Given the description of an element on the screen output the (x, y) to click on. 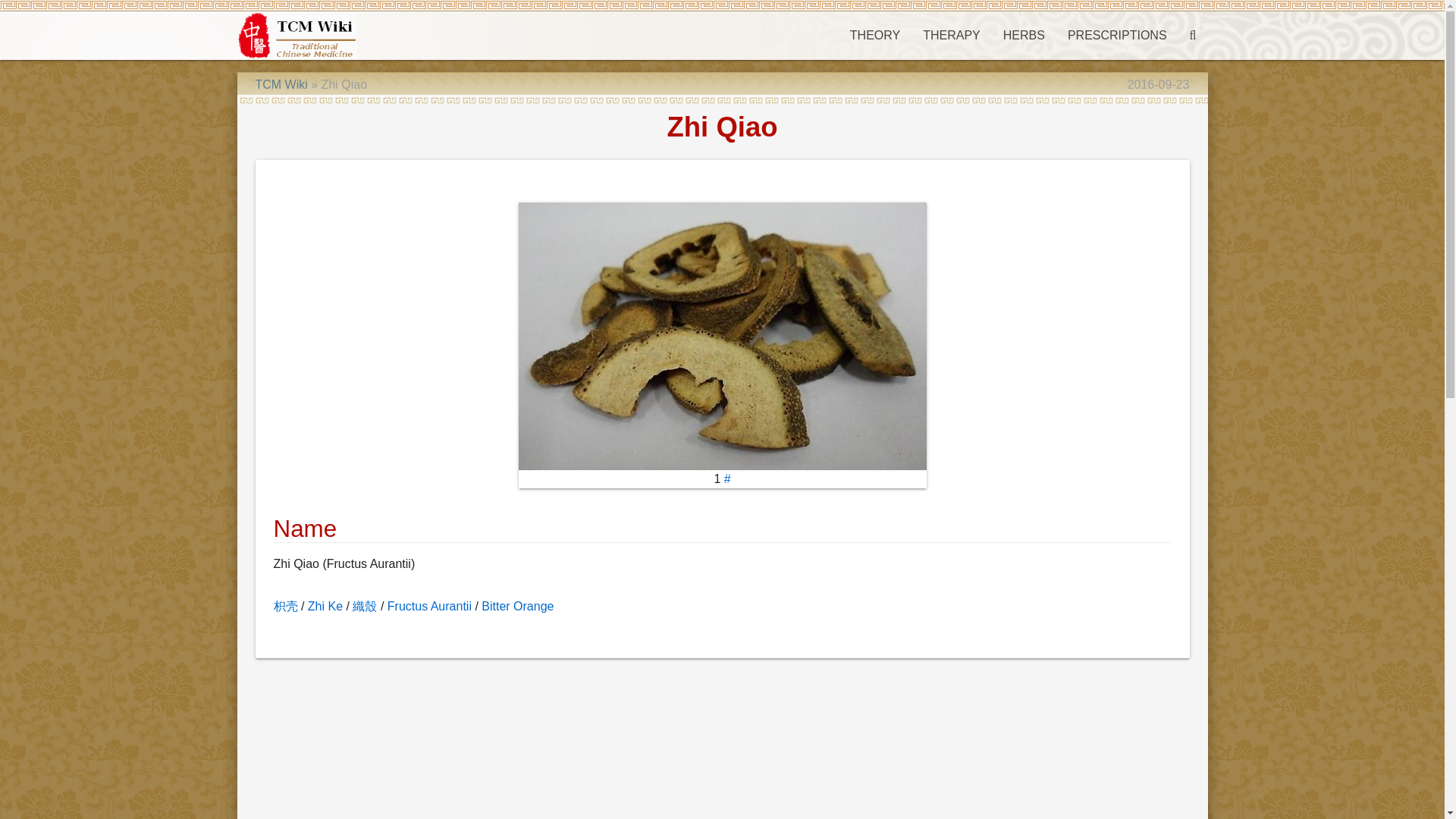
PRESCRIPTIONS (1117, 35)
HERBS (1024, 35)
Zhi Ke (324, 605)
Bitter Orange (517, 605)
THEORY (874, 35)
TCM Wiki (280, 83)
Fructus Aurantii (429, 605)
THERAPY (951, 35)
